Given the description of an element on the screen output the (x, y) to click on. 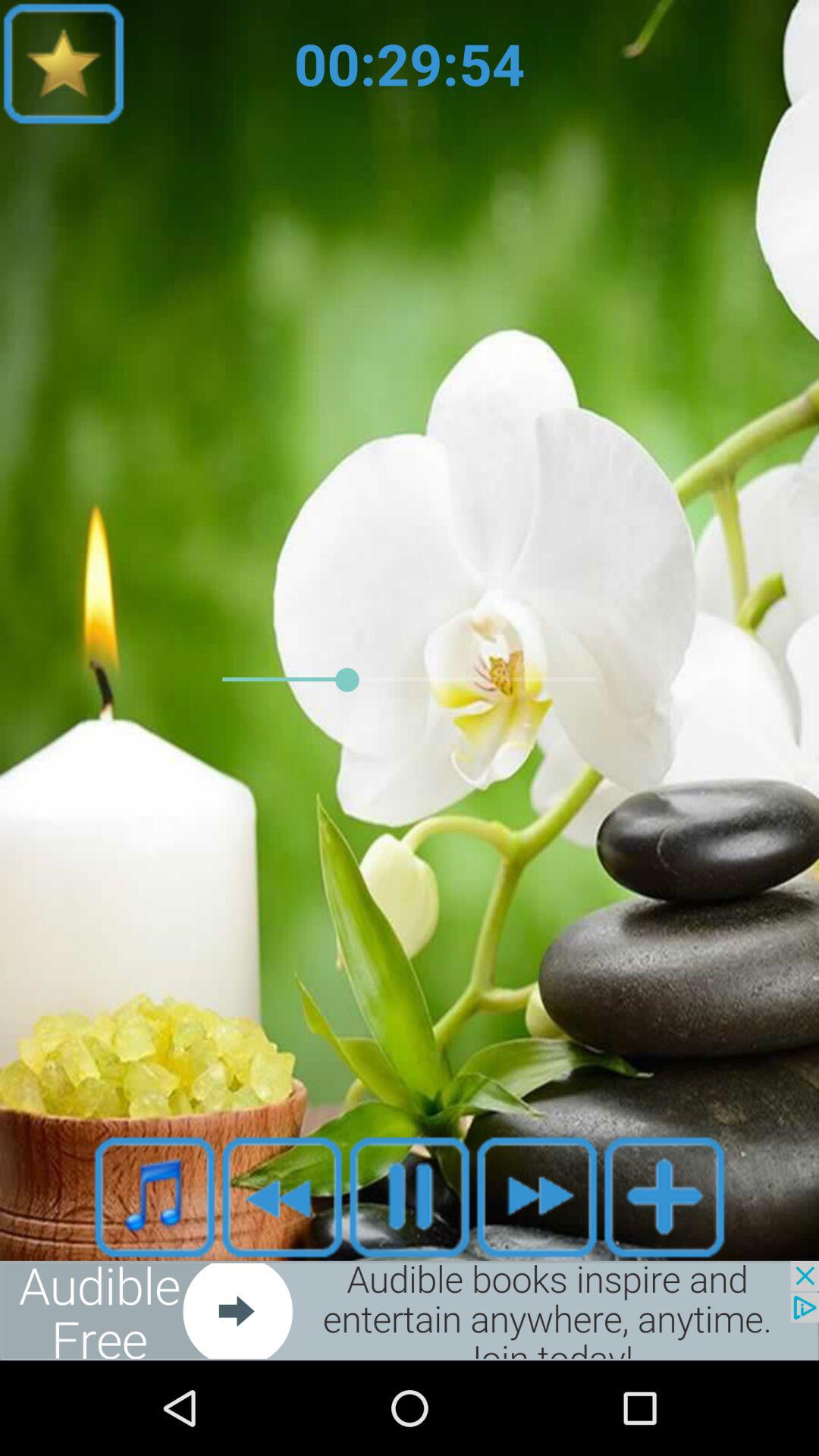
play the audio (409, 1196)
